Given the description of an element on the screen output the (x, y) to click on. 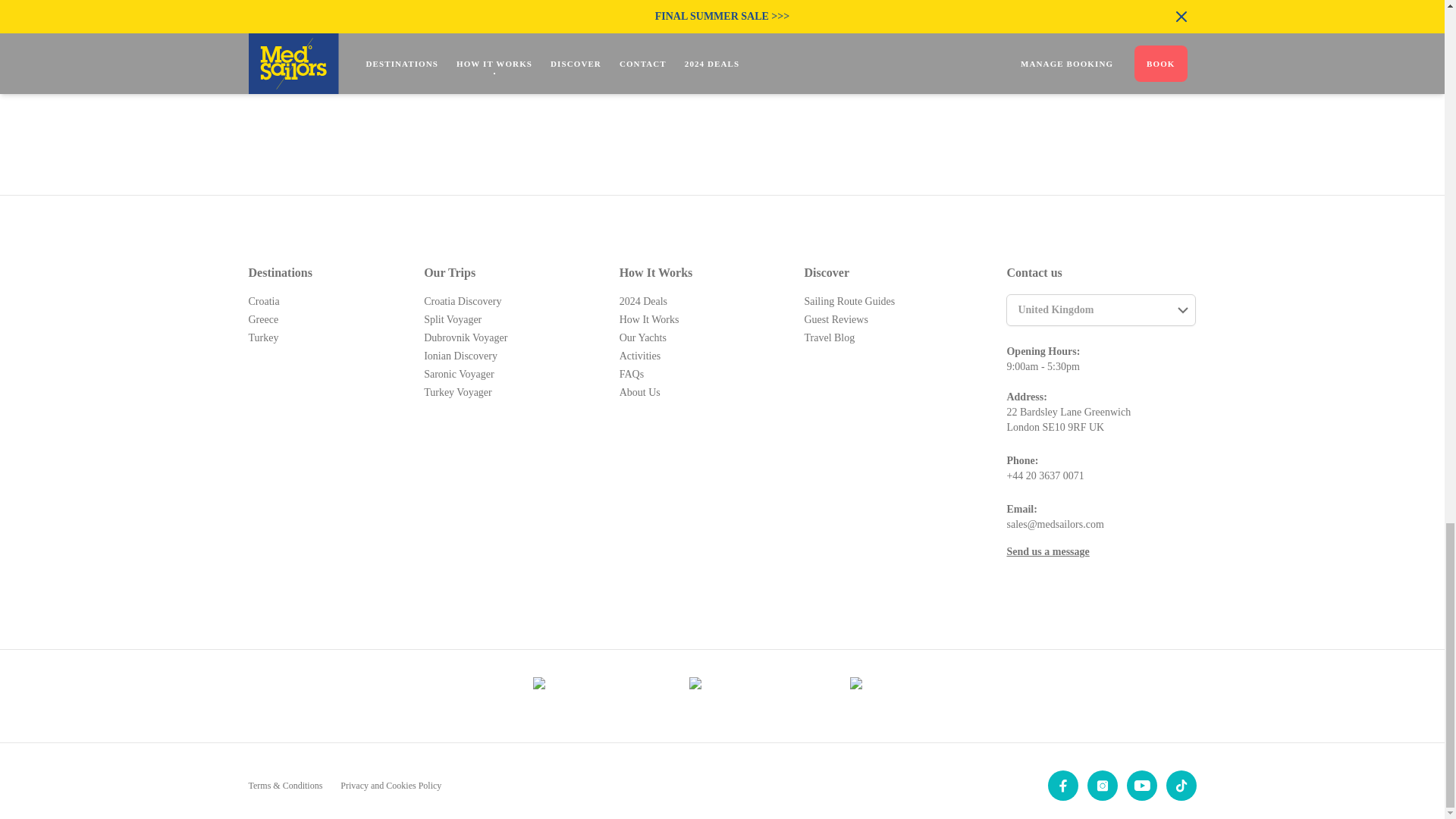
Turkey (263, 337)
Croatia Discovery (461, 301)
Saronic Voyager (458, 374)
Dubrovnik Voyager (464, 337)
Split Voyager (452, 319)
Ionian Discovery (460, 355)
Turkey Voyager (457, 392)
Greece (263, 319)
Croatia (263, 301)
